Given the description of an element on the screen output the (x, y) to click on. 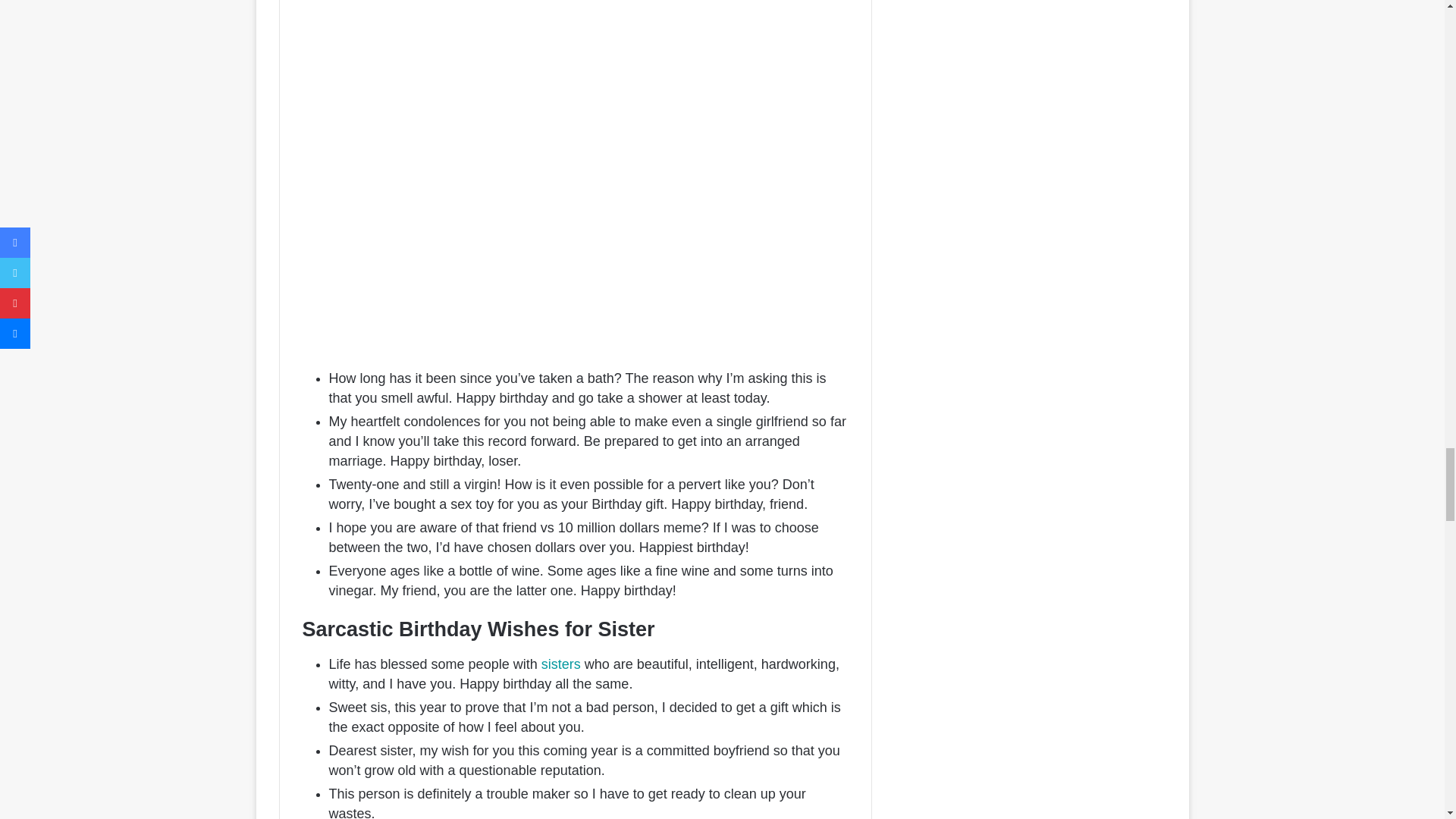
sisters (560, 663)
